Given the description of an element on the screen output the (x, y) to click on. 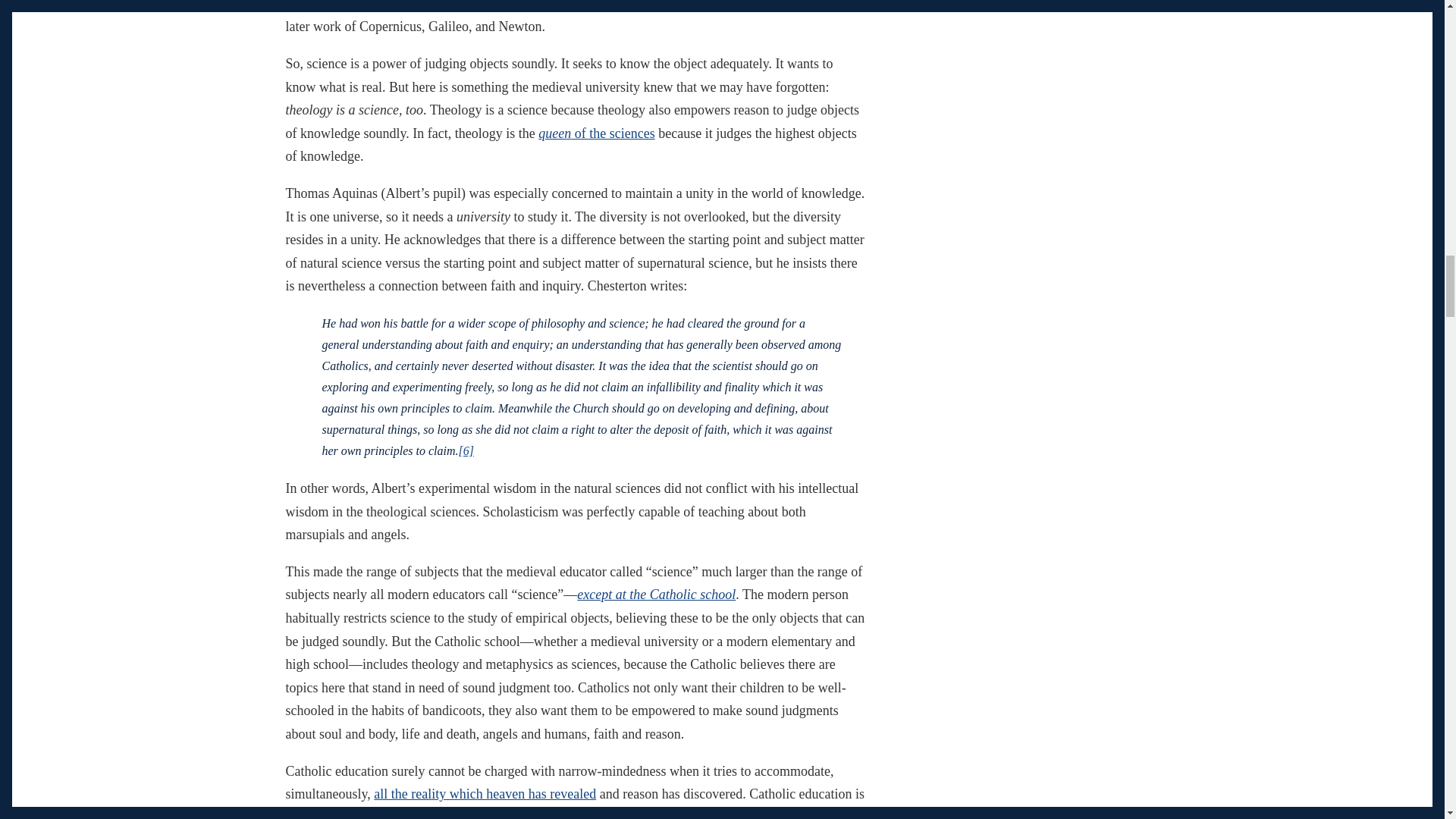
queen of the sciences (595, 133)
